Given the description of an element on the screen output the (x, y) to click on. 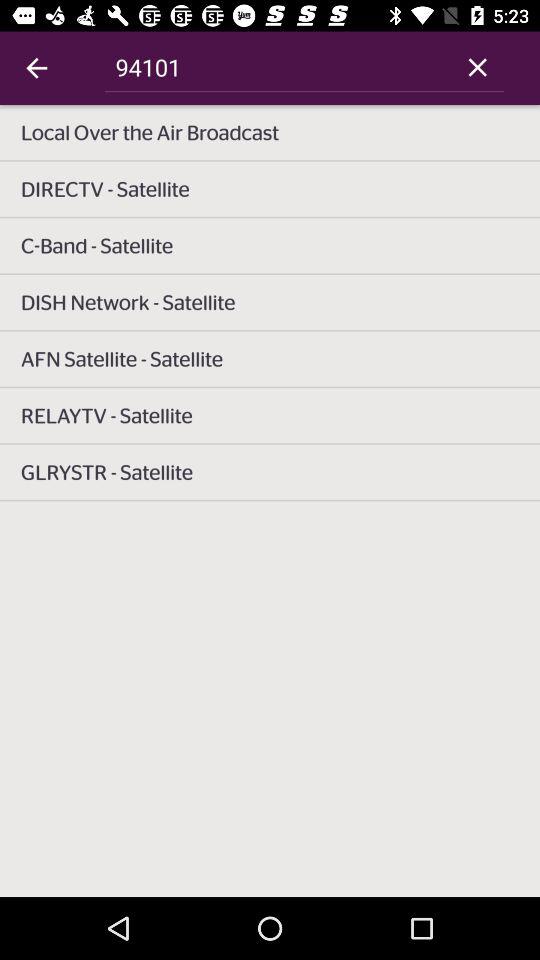
choose the item above local over the icon (36, 68)
